Given the description of an element on the screen output the (x, y) to click on. 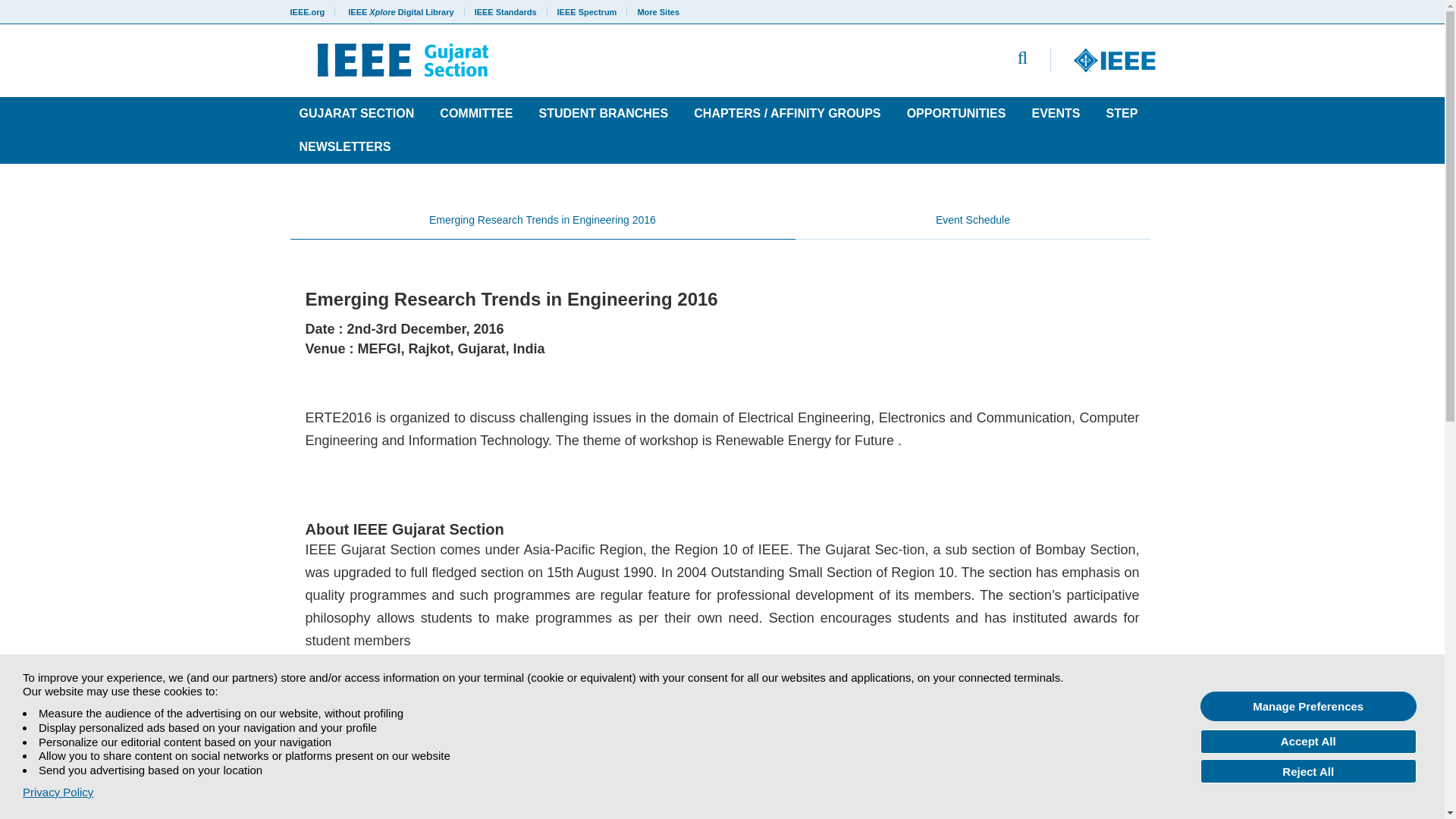
Reject All (1307, 770)
IEEE Xplore Digital Library (400, 11)
EVENTS (1055, 113)
Privacy Policy (58, 792)
STUDENT BRANCHES (603, 113)
More Sites (653, 11)
IEEE Gujarat Section (536, 60)
Accept All (1307, 741)
GUJARAT SECTION (356, 113)
OPPORTUNITIES (956, 113)
